Given the description of an element on the screen output the (x, y) to click on. 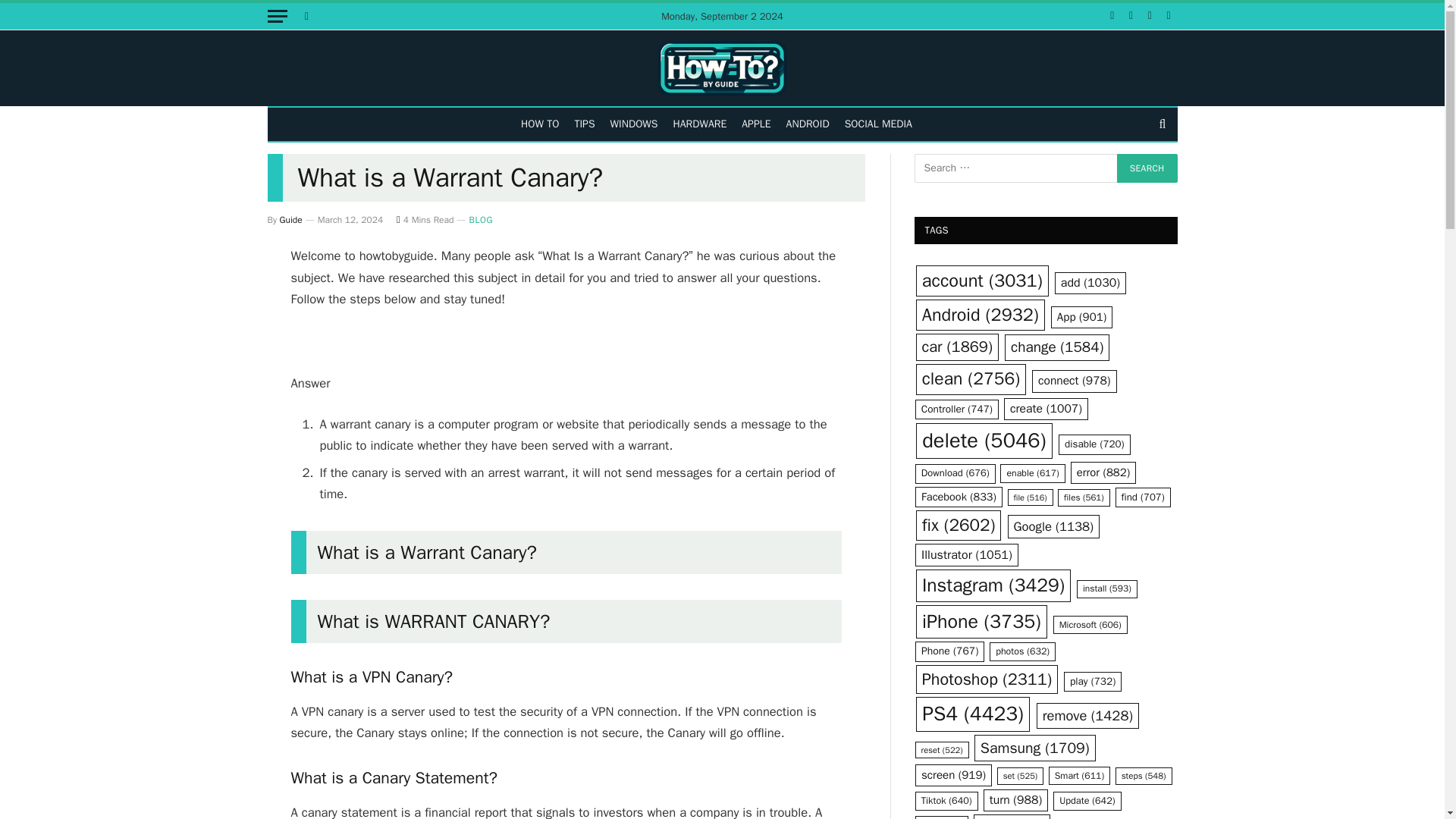
howtobyguide.com (721, 68)
ANDROID (807, 123)
Switch to Dark Design - easier on eyes. (305, 15)
WINDOWS (633, 123)
TIPS (584, 123)
APPLE (755, 123)
BLOG (480, 219)
HOW TO (539, 123)
HARDWARE (700, 123)
SOCIAL MEDIA (878, 123)
